Given the description of an element on the screen output the (x, y) to click on. 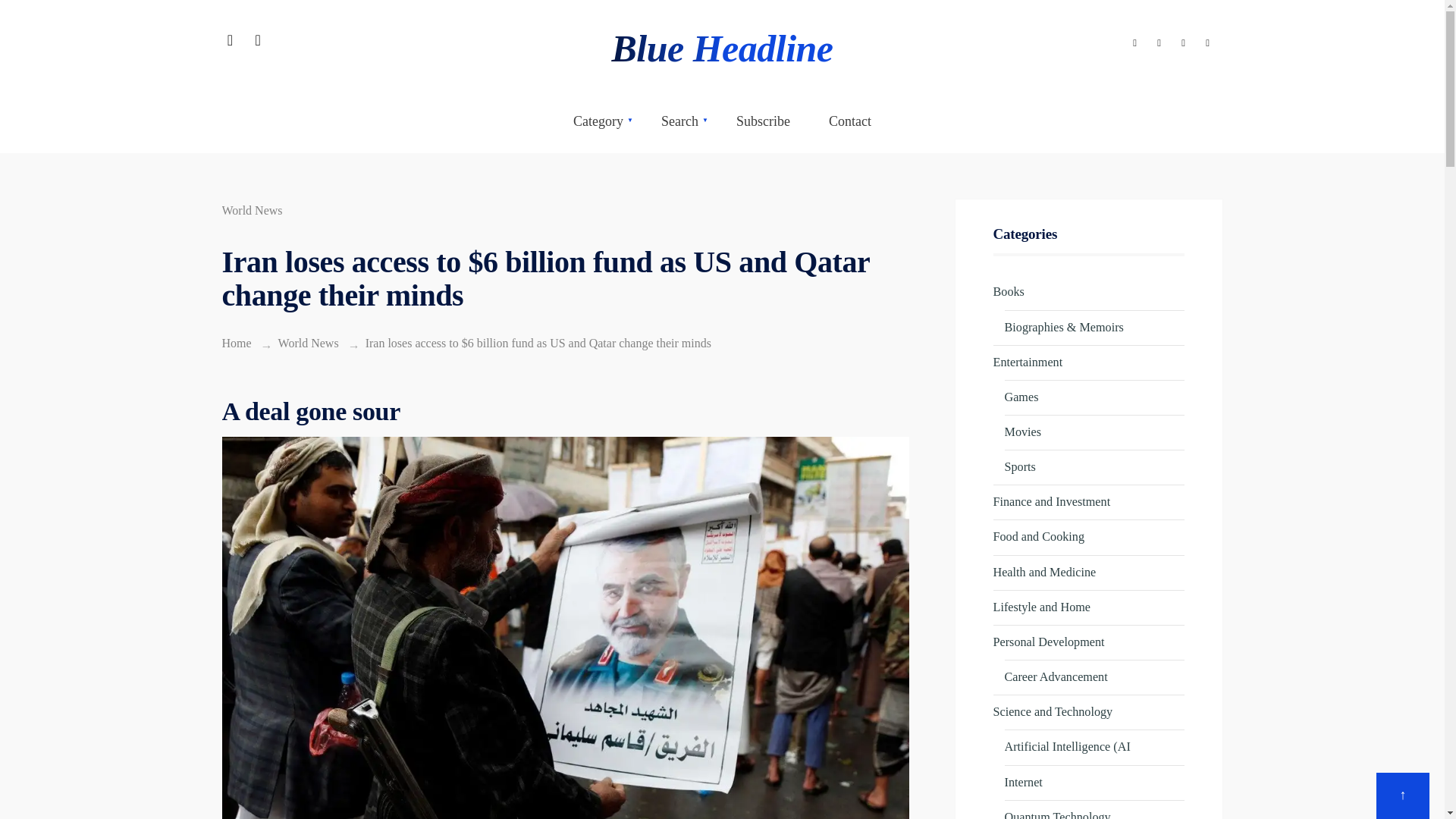
Search (678, 121)
Category (597, 121)
YouTube (1207, 43)
Facebook (1134, 43)
Home (235, 342)
Blue Headline (721, 48)
Twitter (1158, 43)
World News (308, 342)
Contact (849, 121)
Instagram (1182, 43)
